Given the description of an element on the screen output the (x, y) to click on. 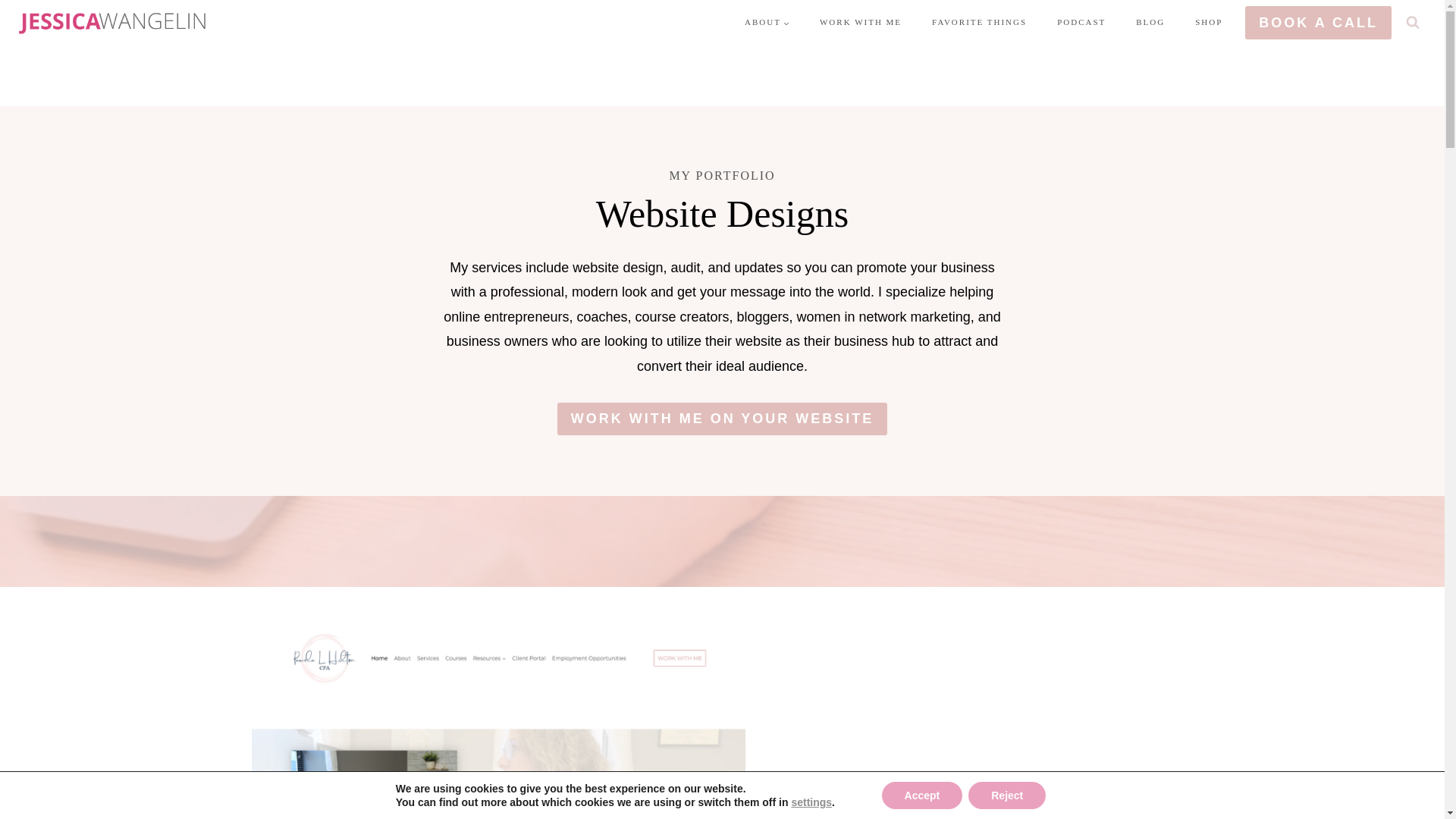
BOOK A CALL (1317, 21)
ABOUT (767, 22)
SHOP (1208, 22)
BLOG (1150, 22)
PODCAST (1081, 22)
WORK WITH ME (861, 22)
WORK WITH ME ON YOUR WEBSITE (722, 418)
FAVORITE THINGS (979, 22)
